Given the description of an element on the screen output the (x, y) to click on. 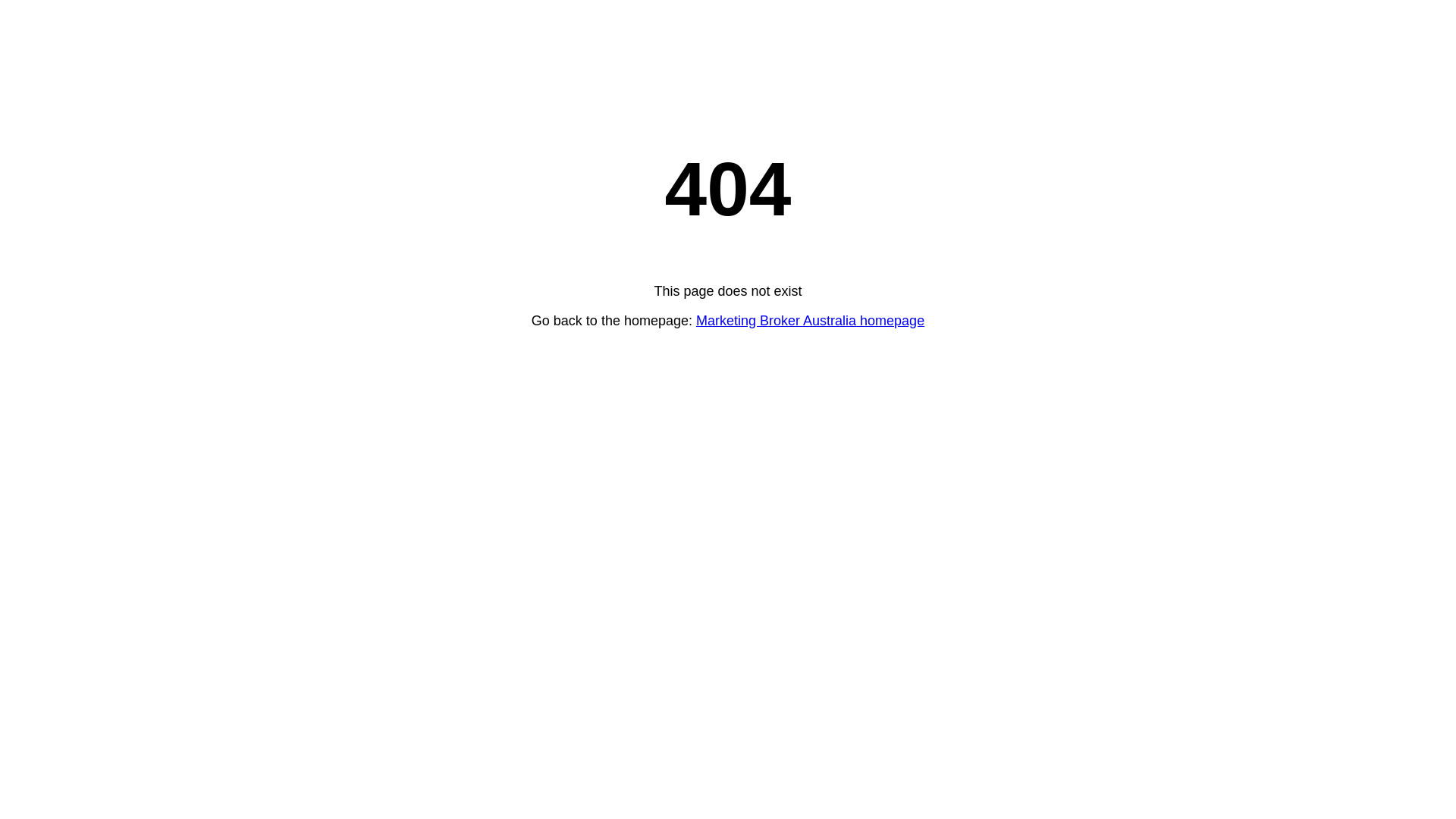
Marketing Broker Australia homepage Element type: text (810, 320)
